Given the description of an element on the screen output the (x, y) to click on. 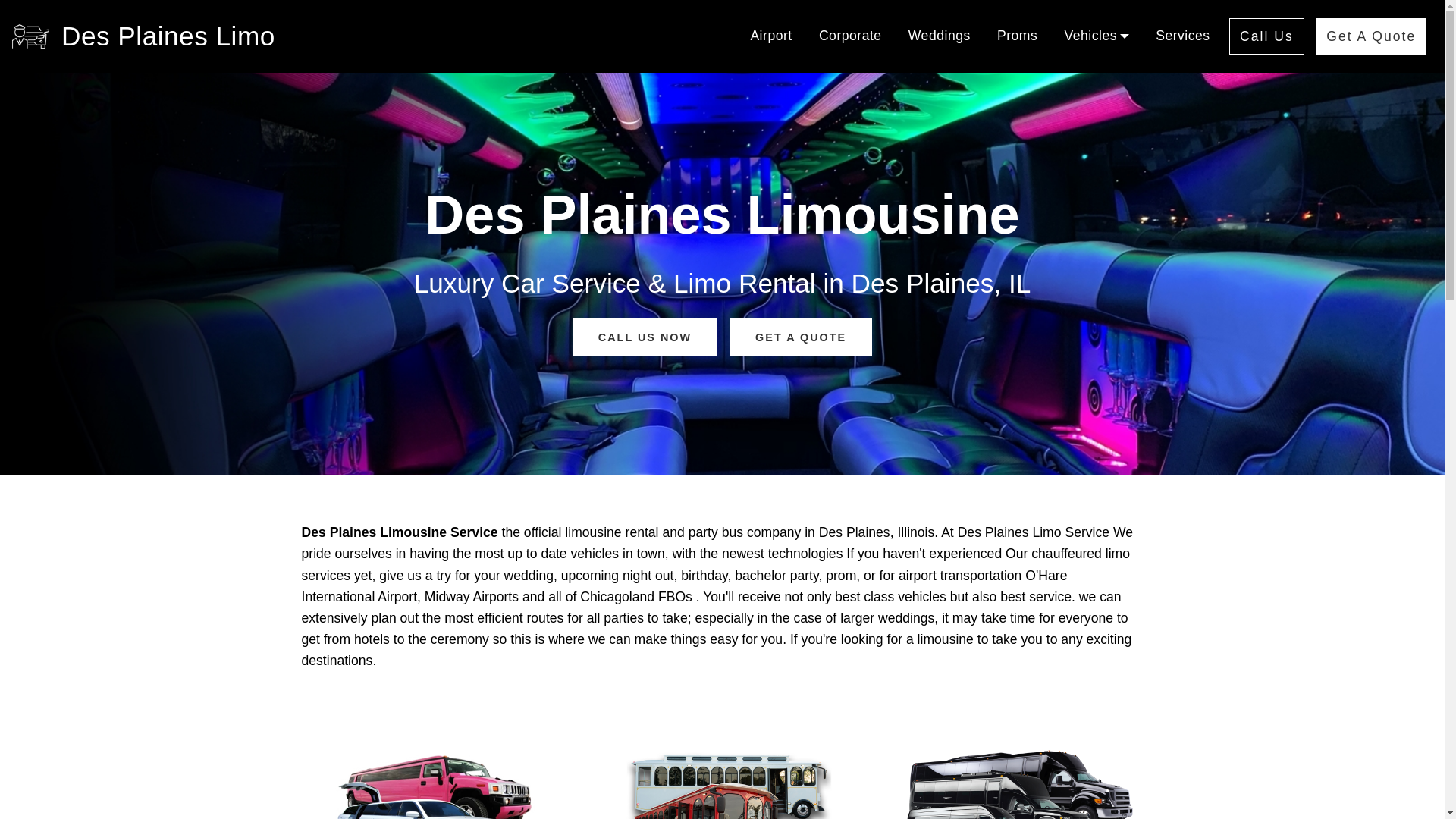
Weddings (939, 36)
GET A QUOTE (800, 337)
Des Plaines Limo (168, 35)
Vehicles (1096, 36)
Services (1182, 36)
CALL US NOW (644, 337)
Call Us (1265, 36)
Corporate (850, 36)
Get A Quote (1371, 36)
Proms (1016, 36)
Airport (770, 36)
